Given the description of an element on the screen output the (x, y) to click on. 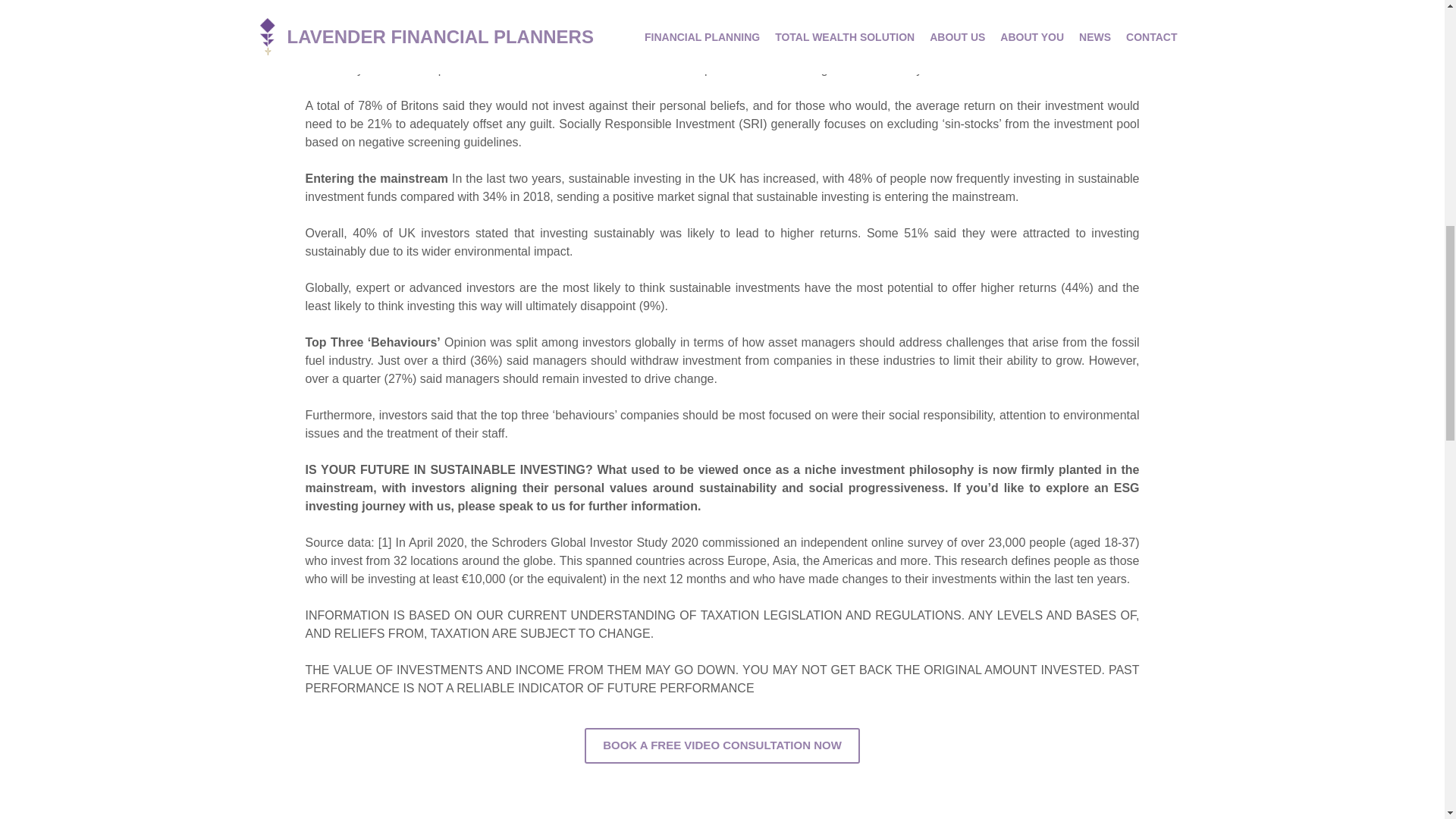
BOOK A FREE VIDEO CONSULTATION NOW (722, 789)
